Given the description of an element on the screen output the (x, y) to click on. 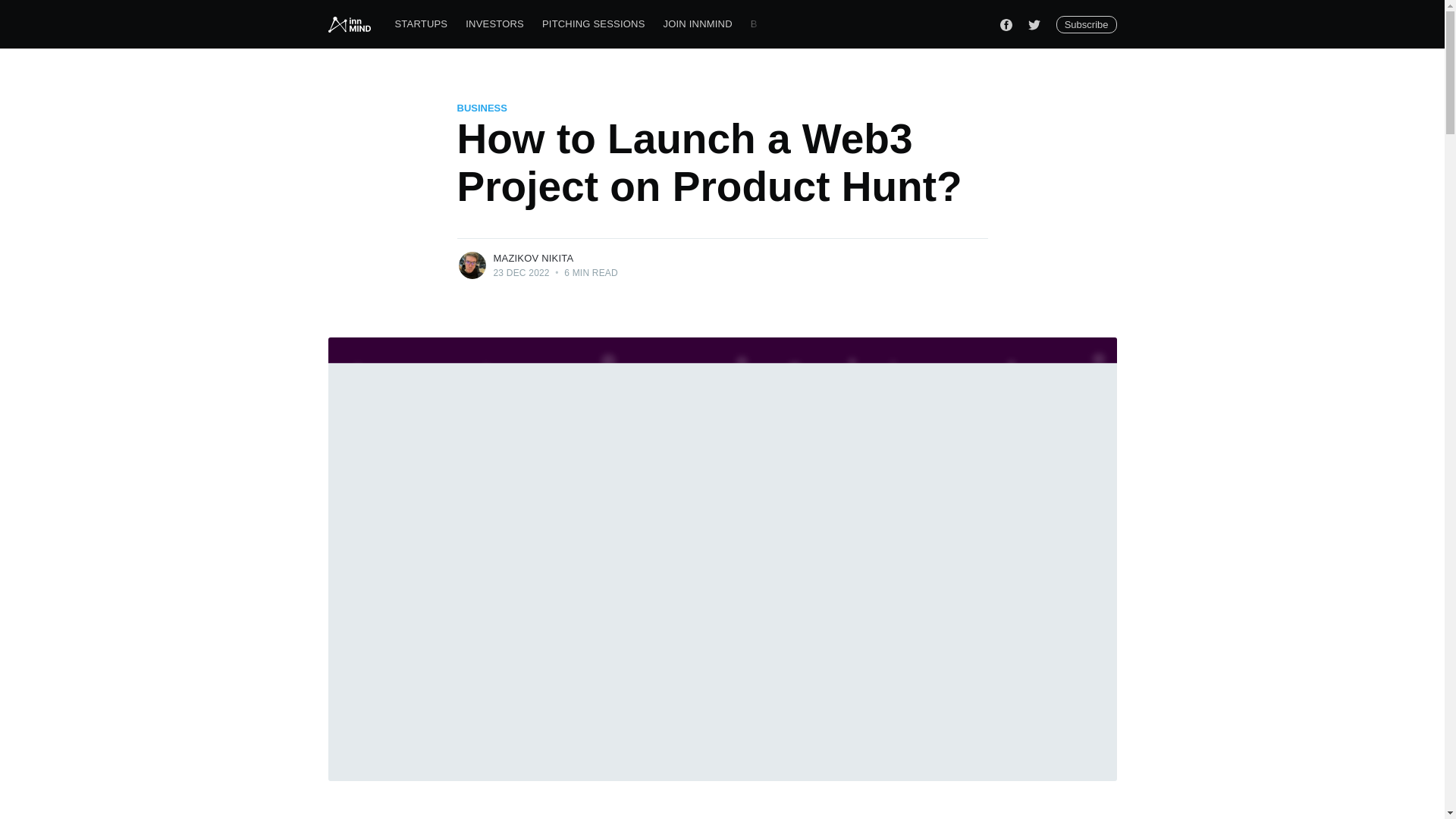
Subscribe (1086, 23)
JOIN INNMIND (697, 24)
BUSINESS (481, 108)
BLOG (764, 24)
STARTUPS (421, 24)
PITCHING SESSIONS (592, 24)
INVESTORS (494, 24)
MAZIKOV NIKITA (533, 257)
